Given the description of an element on the screen output the (x, y) to click on. 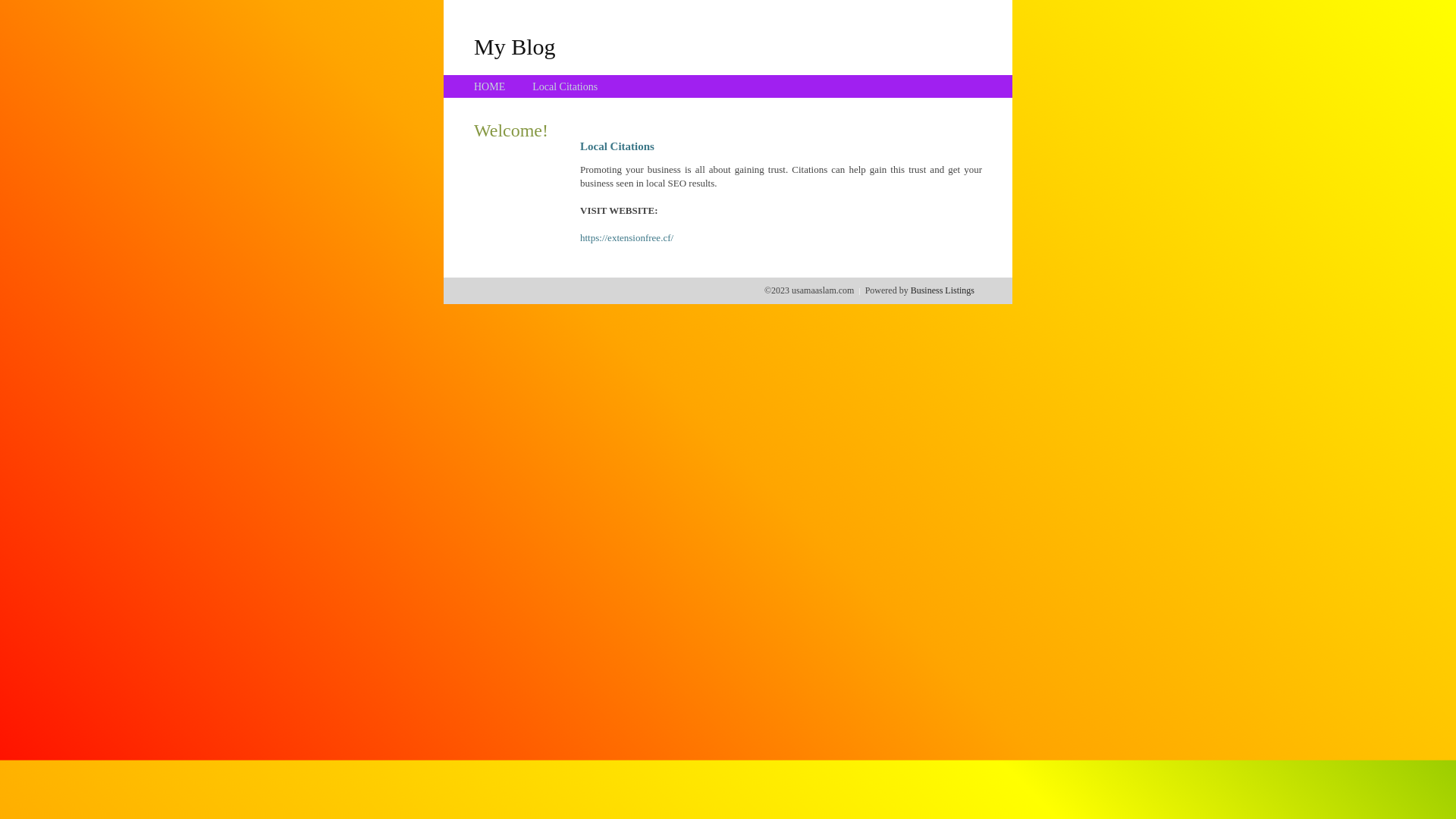
My Blog Element type: text (514, 46)
Business Listings Element type: text (942, 290)
HOME Element type: text (489, 86)
https://extensionfree.cf/ Element type: text (626, 237)
Local Citations Element type: text (564, 86)
